Given the description of an element on the screen output the (x, y) to click on. 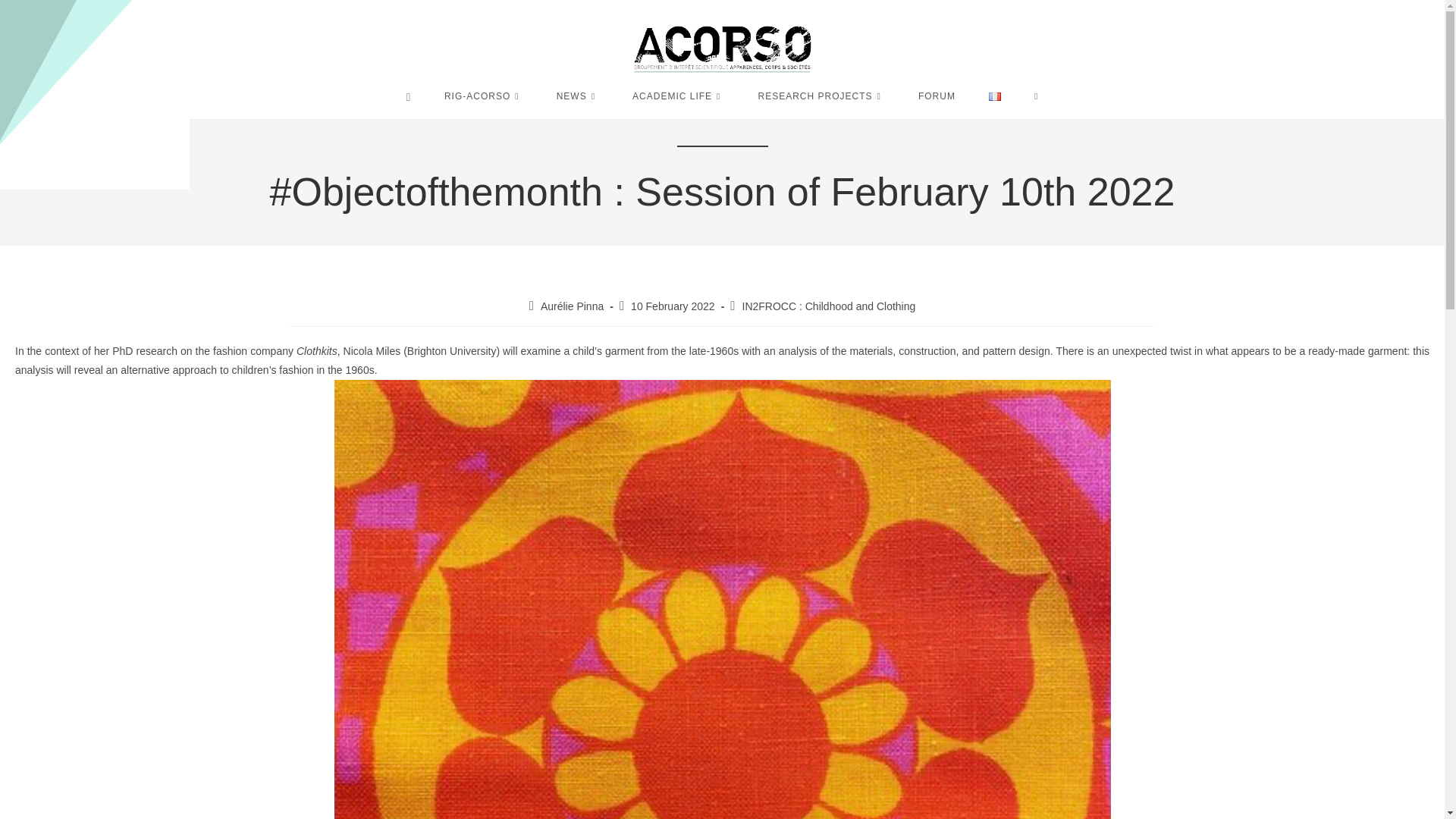
FORUM (936, 95)
NEWS (577, 95)
ACADEMIC LIFE (678, 95)
RIG-ACORSO (484, 95)
RESEARCH PROJECTS (821, 95)
